Given the description of an element on the screen output the (x, y) to click on. 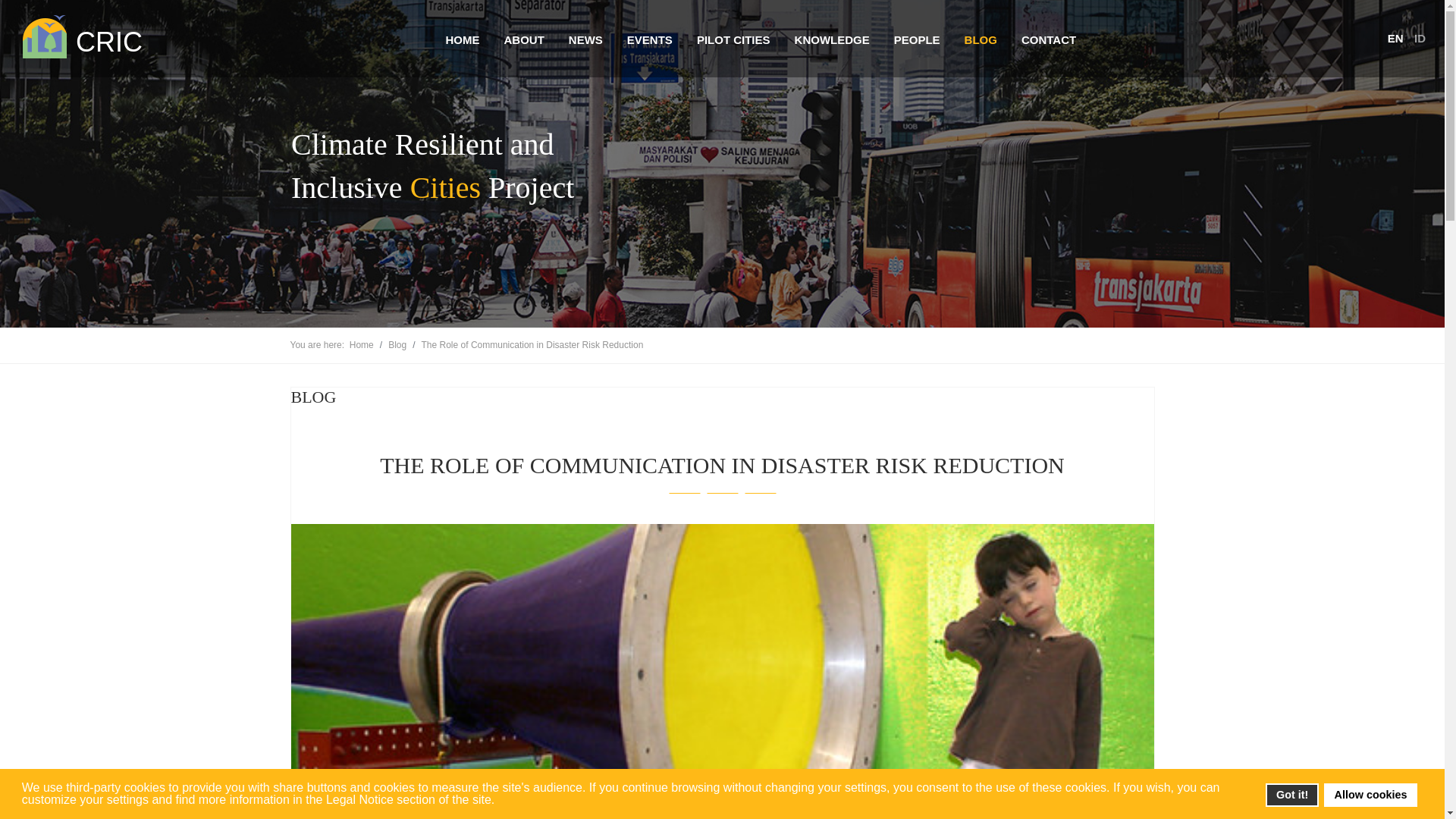
Allow cookies (1369, 794)
PILOT CITIES (732, 39)
ABOUT (524, 39)
HOME (462, 39)
Blog (397, 344)
NEWS (585, 39)
CONTACT (1048, 39)
Got it! (1291, 794)
CRIC (79, 36)
EVENTS (649, 39)
PEOPLE (916, 39)
BLOG (980, 39)
Home (361, 344)
KNOWLEDGE (830, 39)
